Given the description of an element on the screen output the (x, y) to click on. 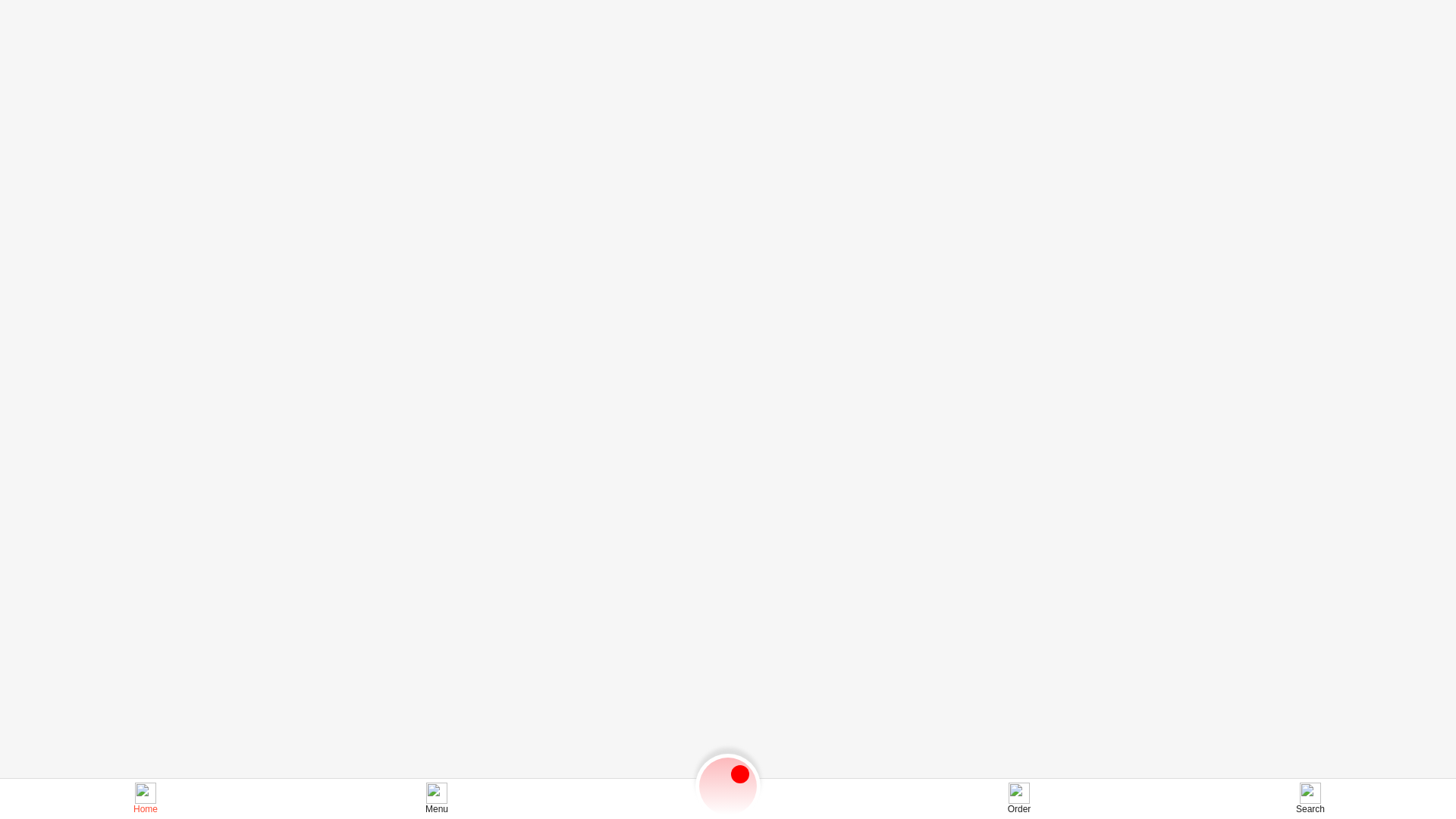
Cart Element type: hover (727, 786)
User Center Element type: hover (1438, 12)
